Given the description of an element on the screen output the (x, y) to click on. 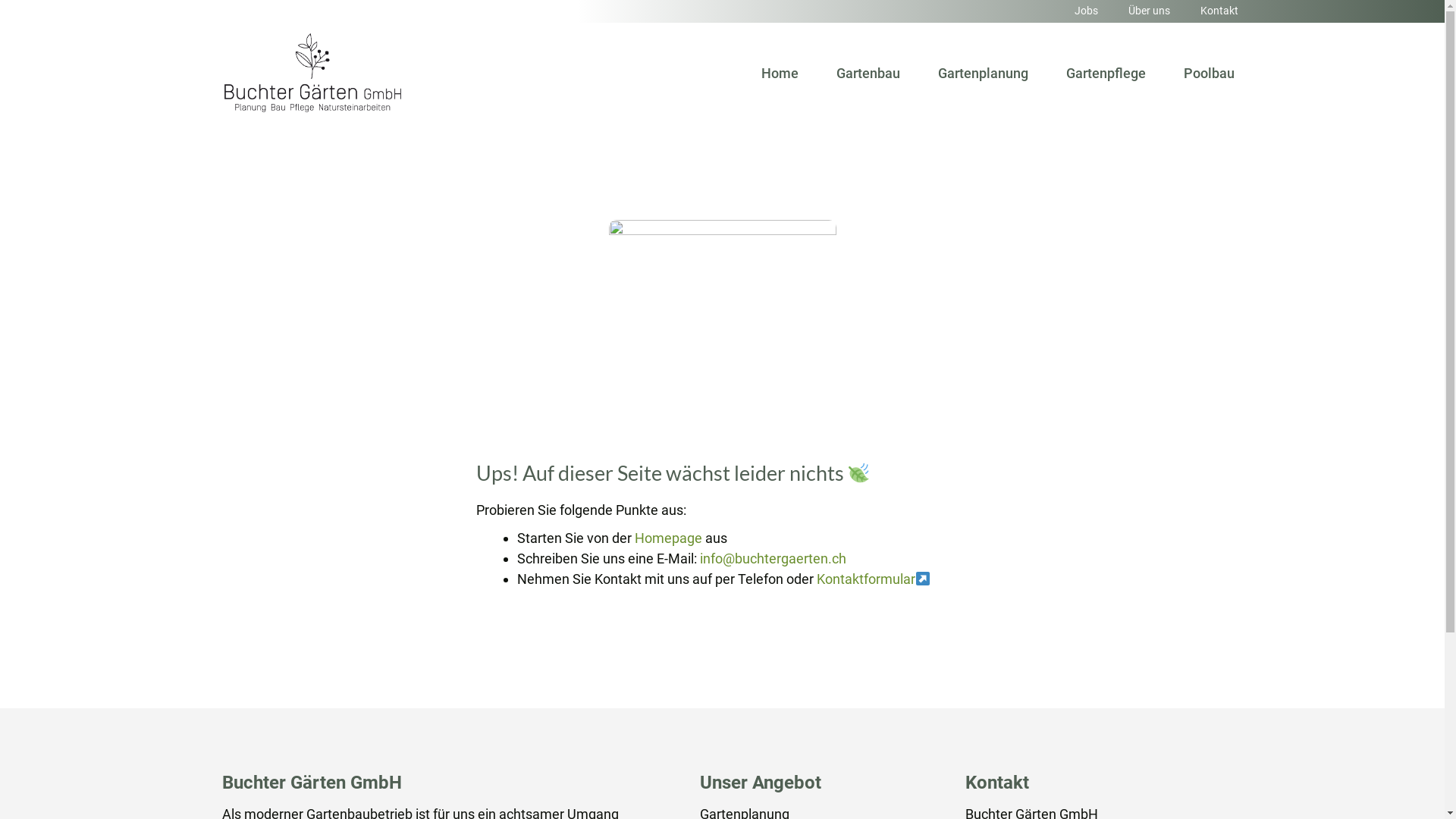
Gartenbau Element type: text (868, 73)
Kontaktformular Element type: text (864, 578)
buchter_gif Element type: hover (721, 333)
Home Element type: text (778, 73)
Kontakt Element type: text (1218, 11)
Gartenpflege Element type: text (1105, 73)
Gartenplanung Element type: text (983, 73)
Jobs Element type: text (1085, 11)
info@buchtergaerten.ch Element type: text (772, 558)
Homepage Element type: text (667, 538)
Poolbau Element type: text (1208, 73)
